Given the description of an element on the screen output the (x, y) to click on. 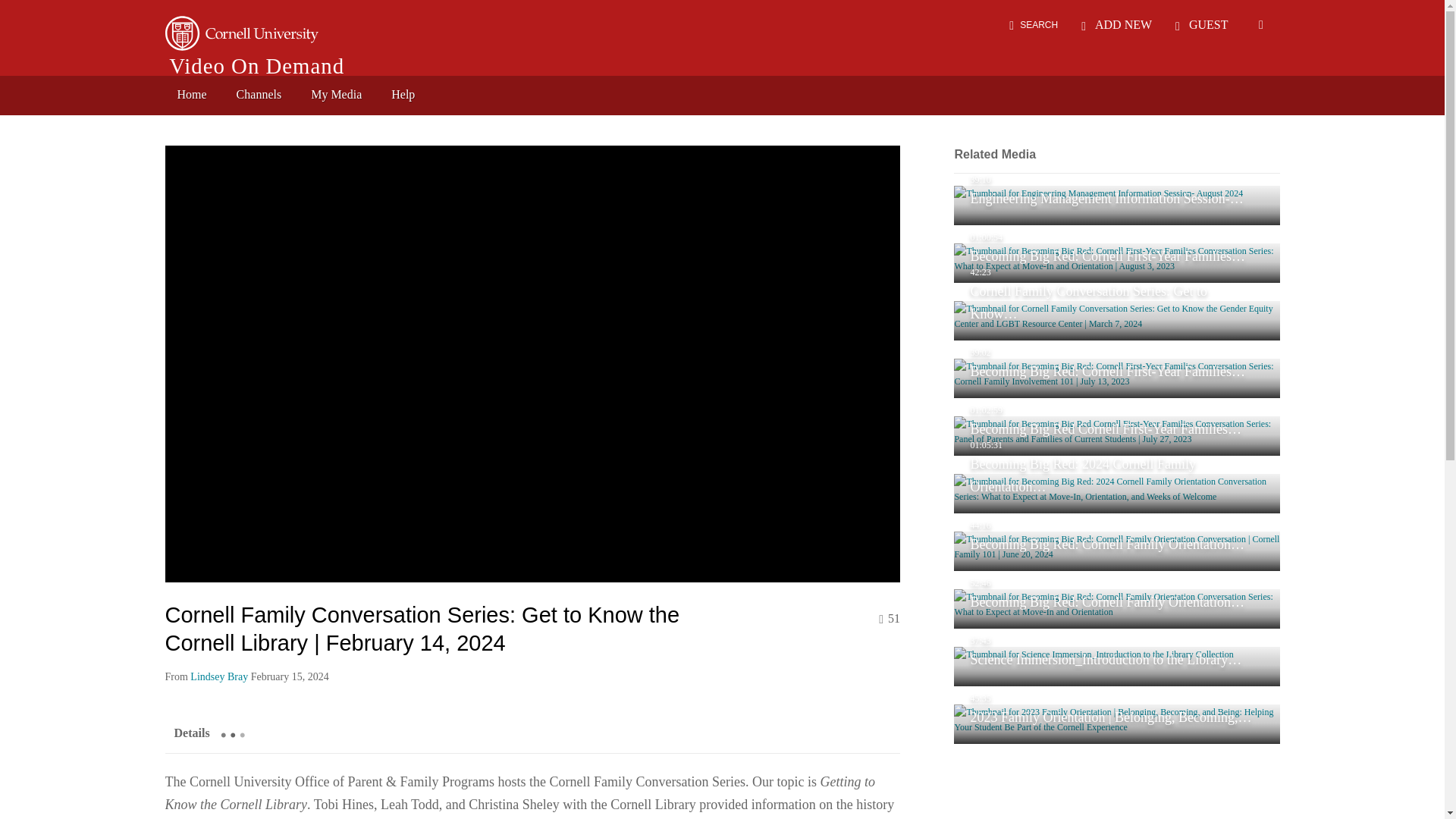
SEARCH (1032, 23)
Lindsey Bray (218, 676)
Channels (259, 94)
GUEST (1201, 23)
My Media (336, 94)
Engineering Management Information Session- August 2024 (1116, 205)
toggle contrast mode (1260, 23)
Home (192, 94)
